Given the description of an element on the screen output the (x, y) to click on. 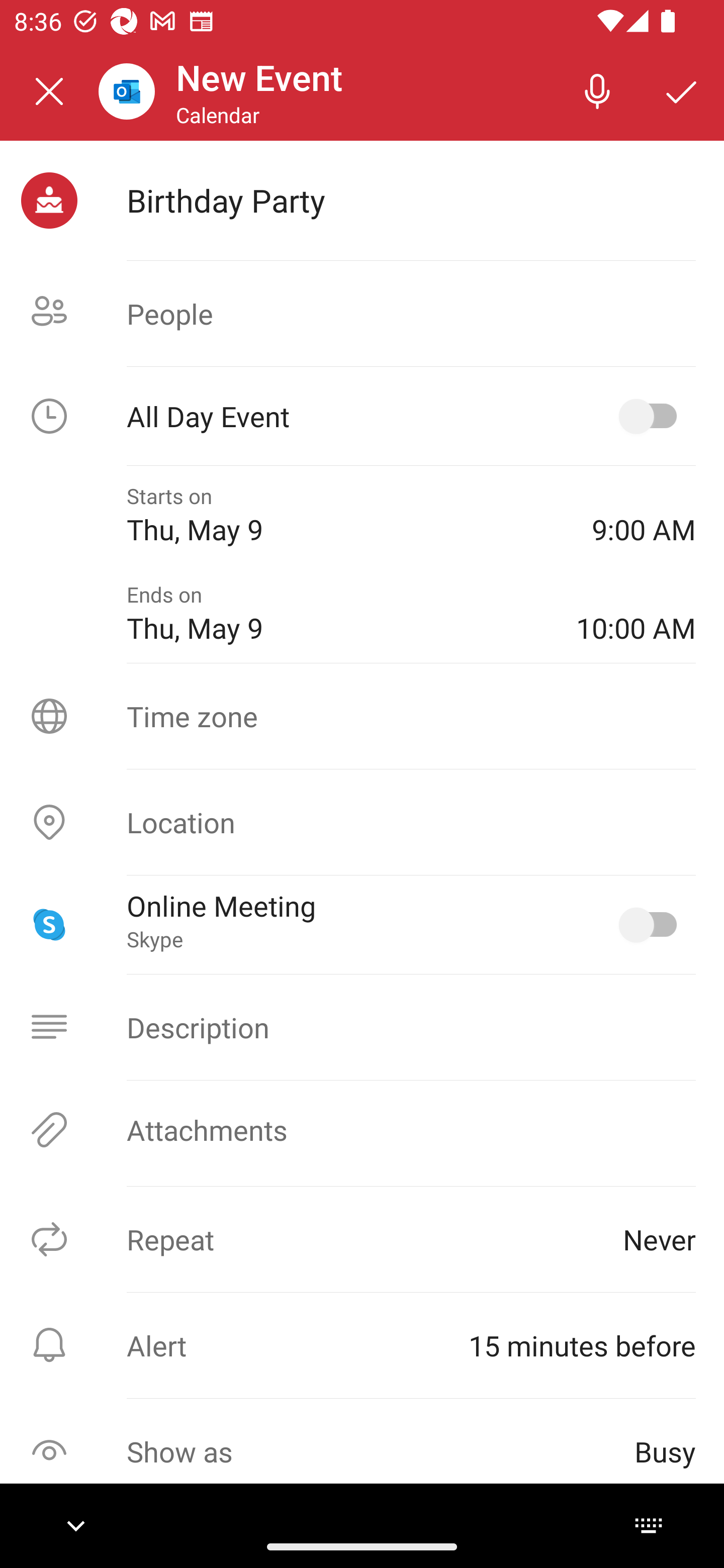
Close (49, 91)
Save (681, 90)
Birthday Party (410, 200)
birthday selected, event icon picker (48, 200)
People (362, 313)
All Day Event (362, 415)
Starts on Thu, May 9 (344, 514)
9:00 AM (643, 514)
Ends on Thu, May 9 (336, 613)
10:00 AM (635, 613)
Time zone (362, 715)
Location (362, 821)
Online Meeting, Skype selected (651, 923)
Description (362, 1026)
Attachments (362, 1129)
Repeat Never (362, 1239)
Alert ⁨15 minutes before (362, 1345)
Show as Busy (362, 1450)
